Given the description of an element on the screen output the (x, y) to click on. 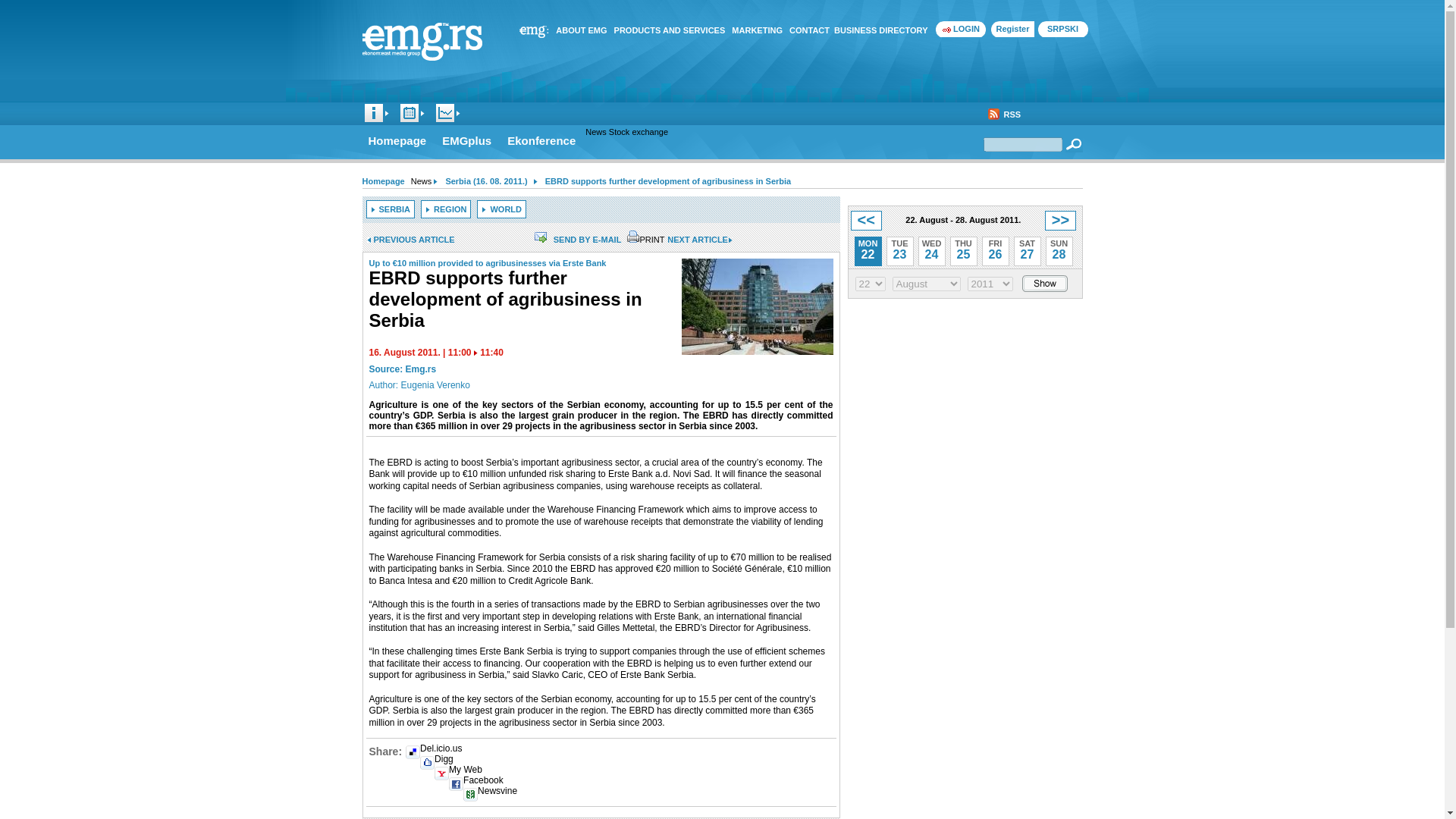
CONTACT (809, 30)
PRODUCTS AND SERVICES (669, 30)
Stock exchange (444, 112)
Register (1012, 28)
Prijavite se (961, 28)
ABOUT EMG (581, 30)
SRPSKI (1061, 28)
LOGIN (961, 28)
News (374, 112)
MARKETING (757, 30)
BUSINESS DIRECTORY (880, 30)
Business directory Serbia (880, 30)
Business calendar (408, 112)
